Given the description of an element on the screen output the (x, y) to click on. 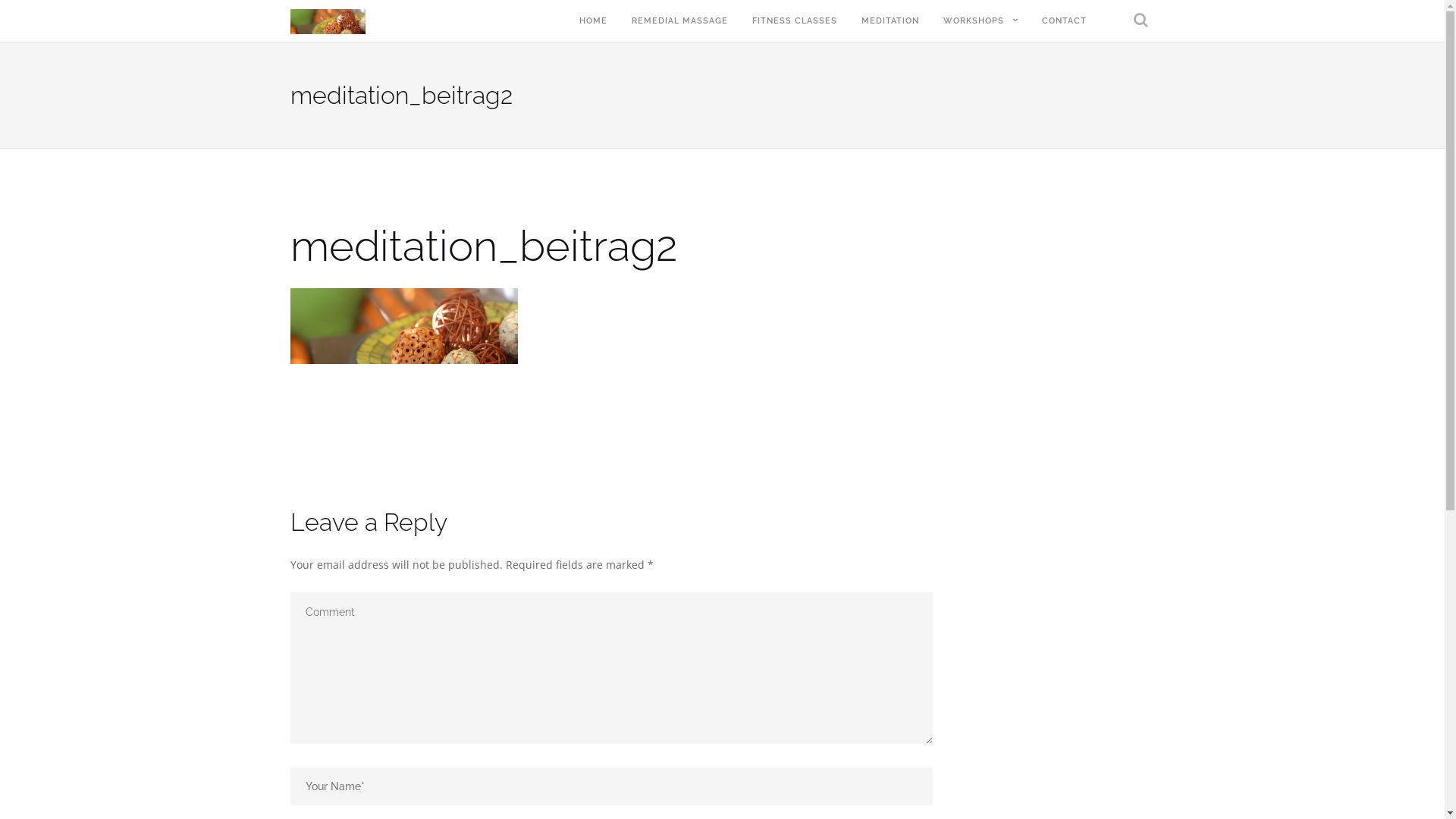
FITNESS CLASSES Element type: text (794, 21)
CONTACT Element type: text (1063, 21)
REMEDIAL MASSAGE Element type: text (678, 21)
WORKSHOPS Element type: text (973, 21)
HOME Element type: text (593, 21)
Search Element type: text (1130, 72)
MEDITATION Element type: text (890, 21)
